Given the description of an element on the screen output the (x, y) to click on. 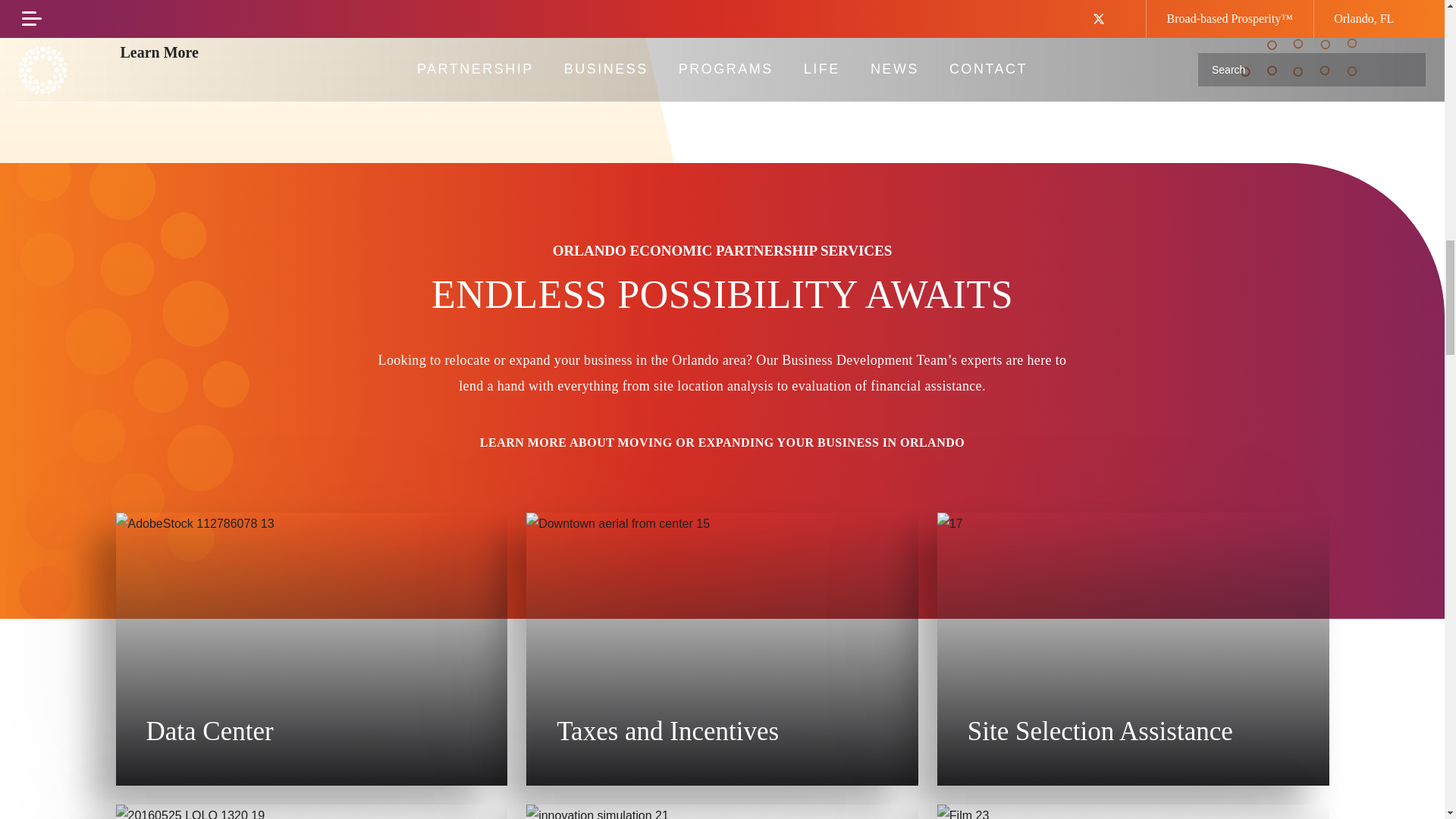
Home 18 (1133, 648)
Home 14 (310, 648)
Home 24 (1133, 811)
Home 22 (721, 811)
Home 16 (721, 648)
Home 20 (310, 811)
